Given the description of an element on the screen output the (x, y) to click on. 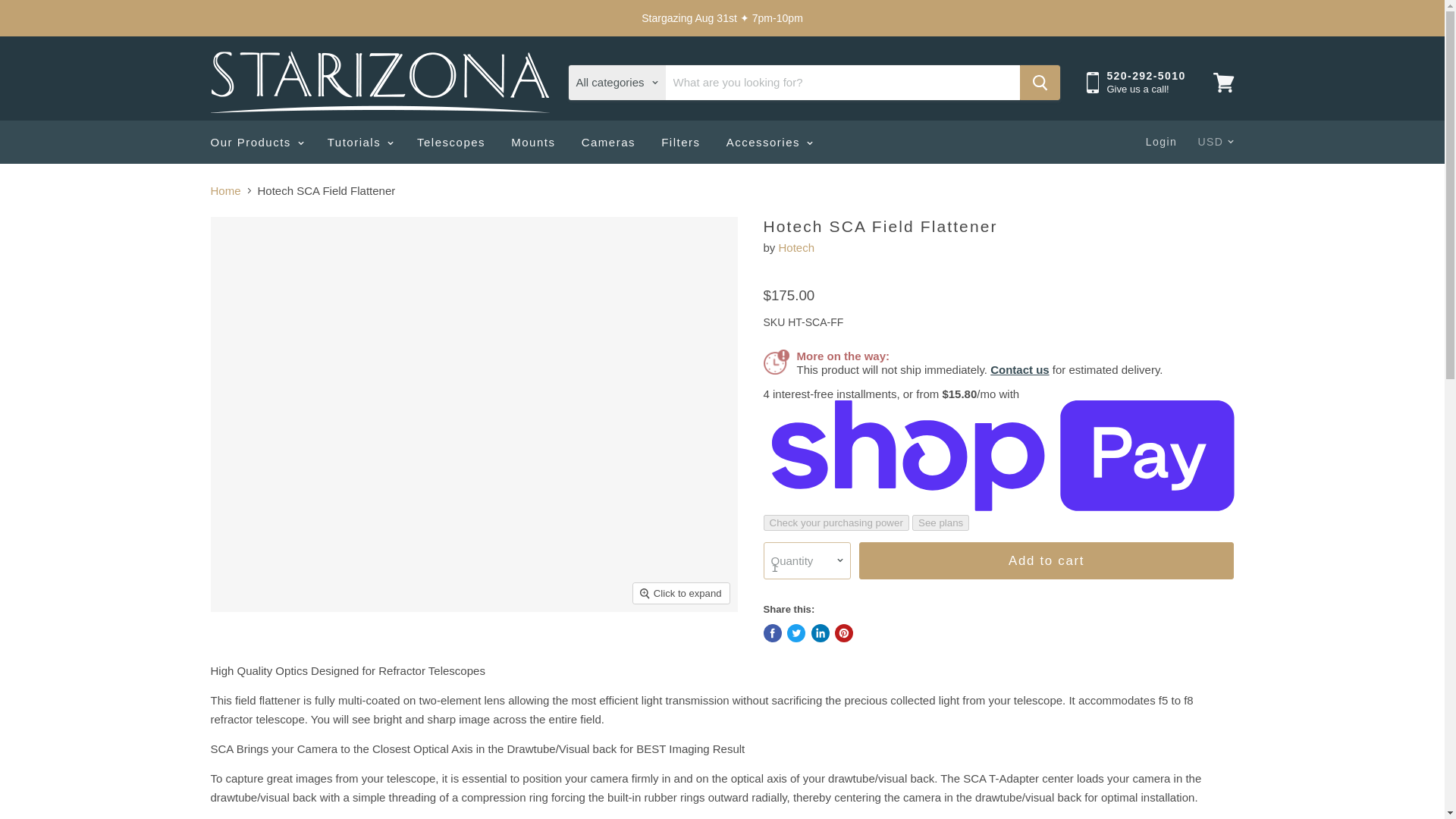
Our Products (255, 142)
Tutorials (359, 142)
Hotech (796, 246)
View cart (1223, 82)
